Given the description of an element on the screen output the (x, y) to click on. 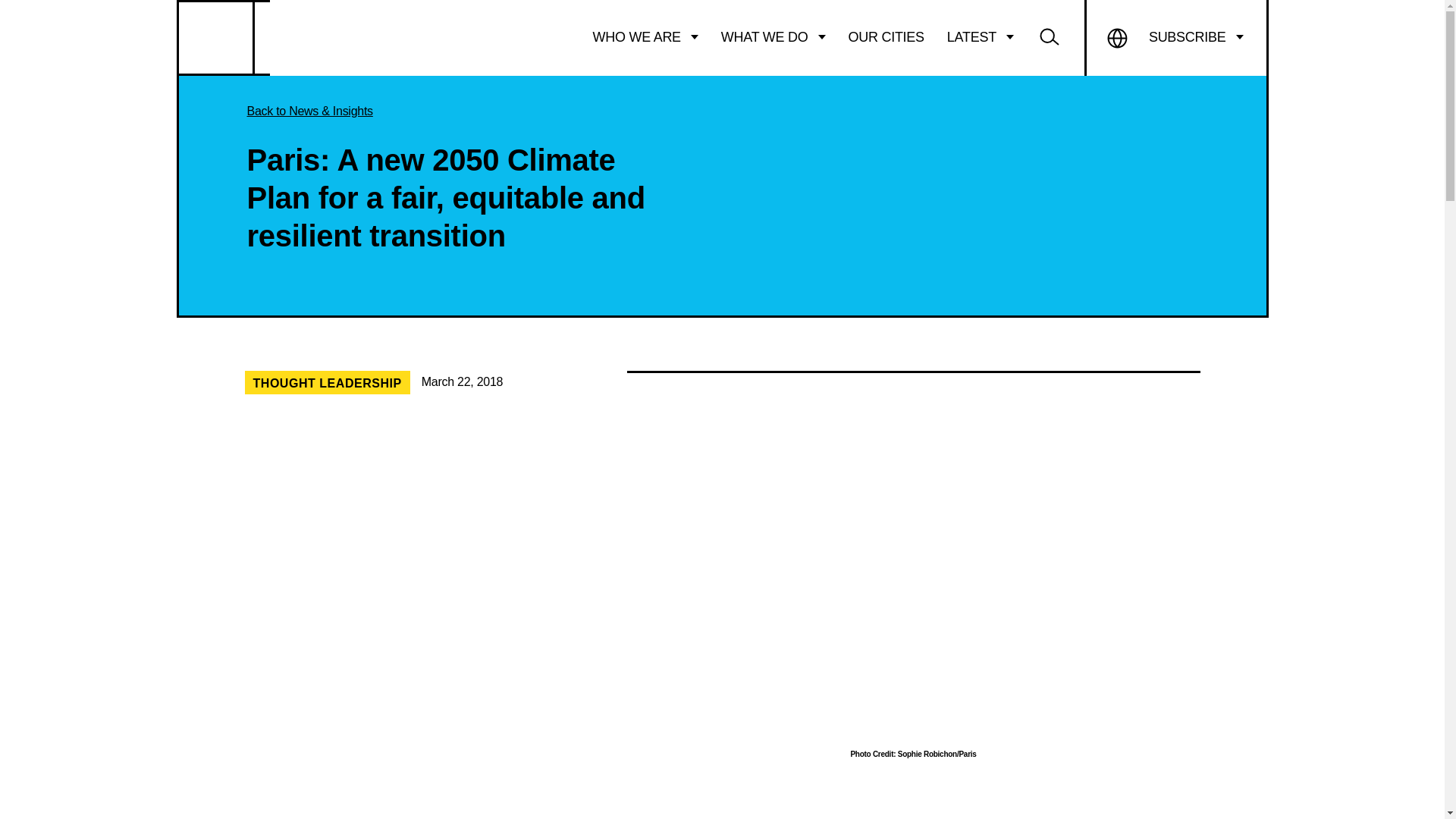
WHO WE ARE (645, 37)
WHAT WE DO (773, 37)
OUR CITIES (886, 37)
LATEST (980, 37)
